Given the description of an element on the screen output the (x, y) to click on. 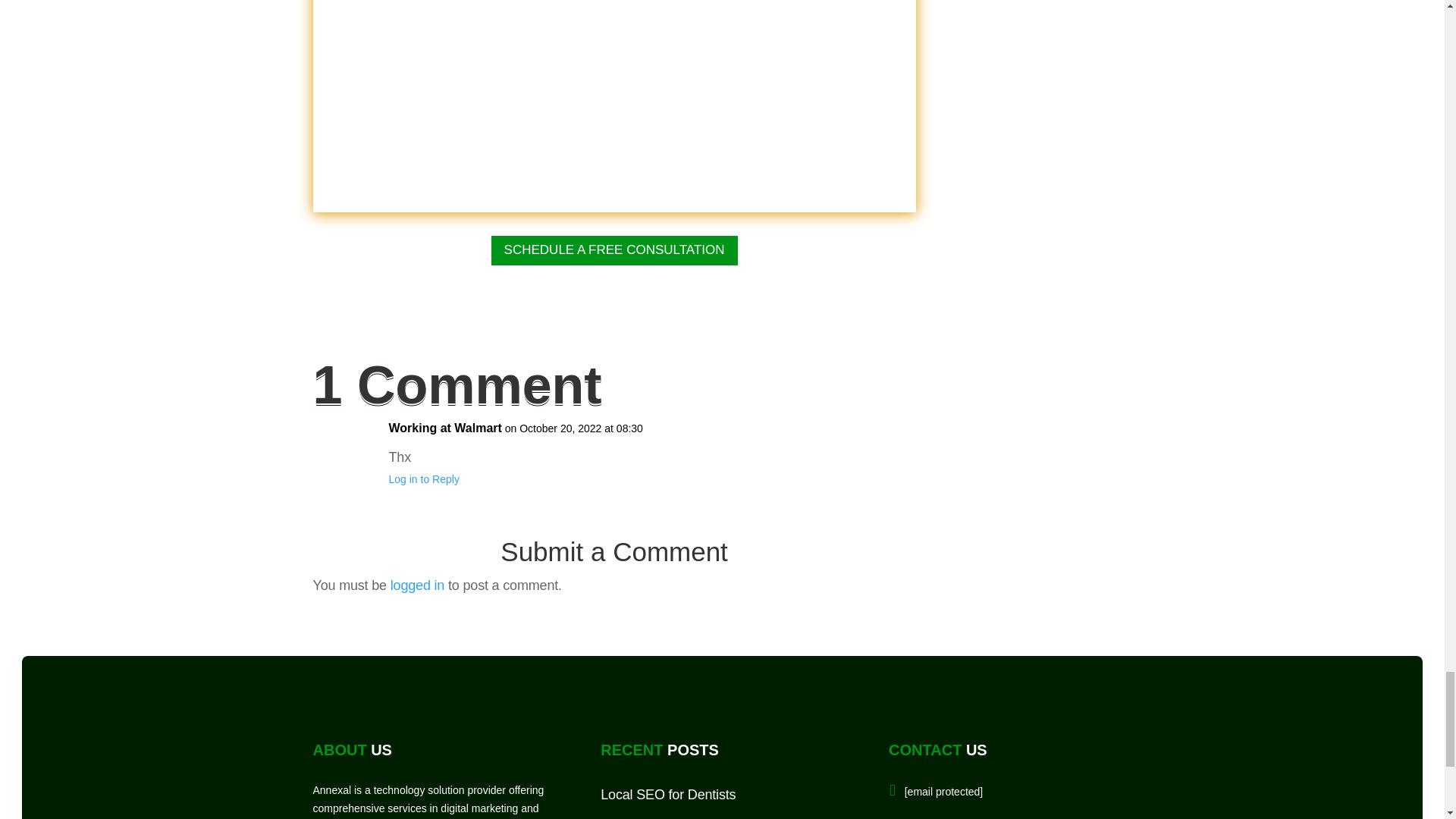
Working at Walmart (444, 428)
logged in (417, 585)
SCHEDULE A FREE CONSULTATION (615, 250)
Log in to Reply (423, 479)
